Given the description of an element on the screen output the (x, y) to click on. 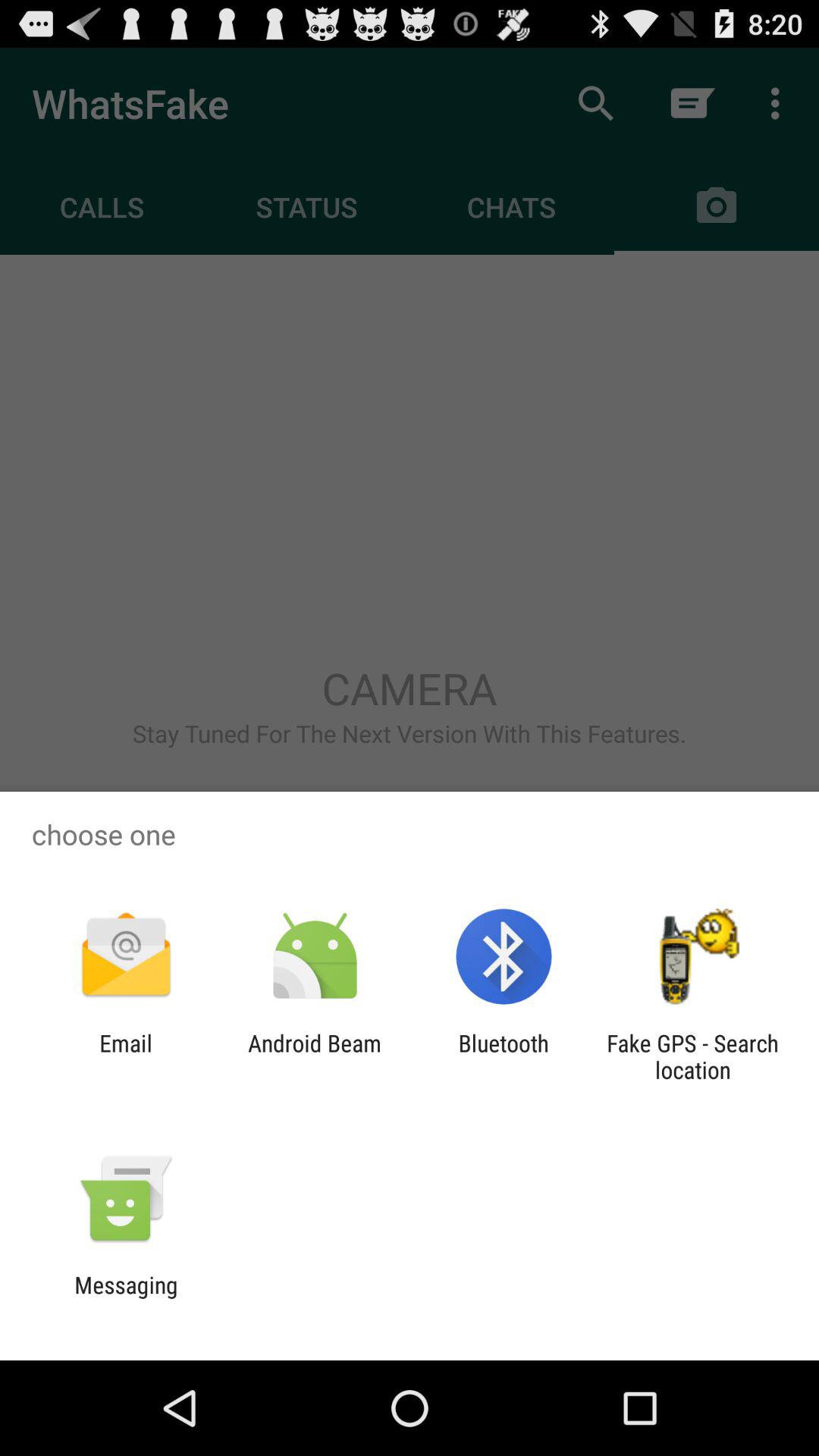
flip to the bluetooth item (503, 1056)
